Given the description of an element on the screen output the (x, y) to click on. 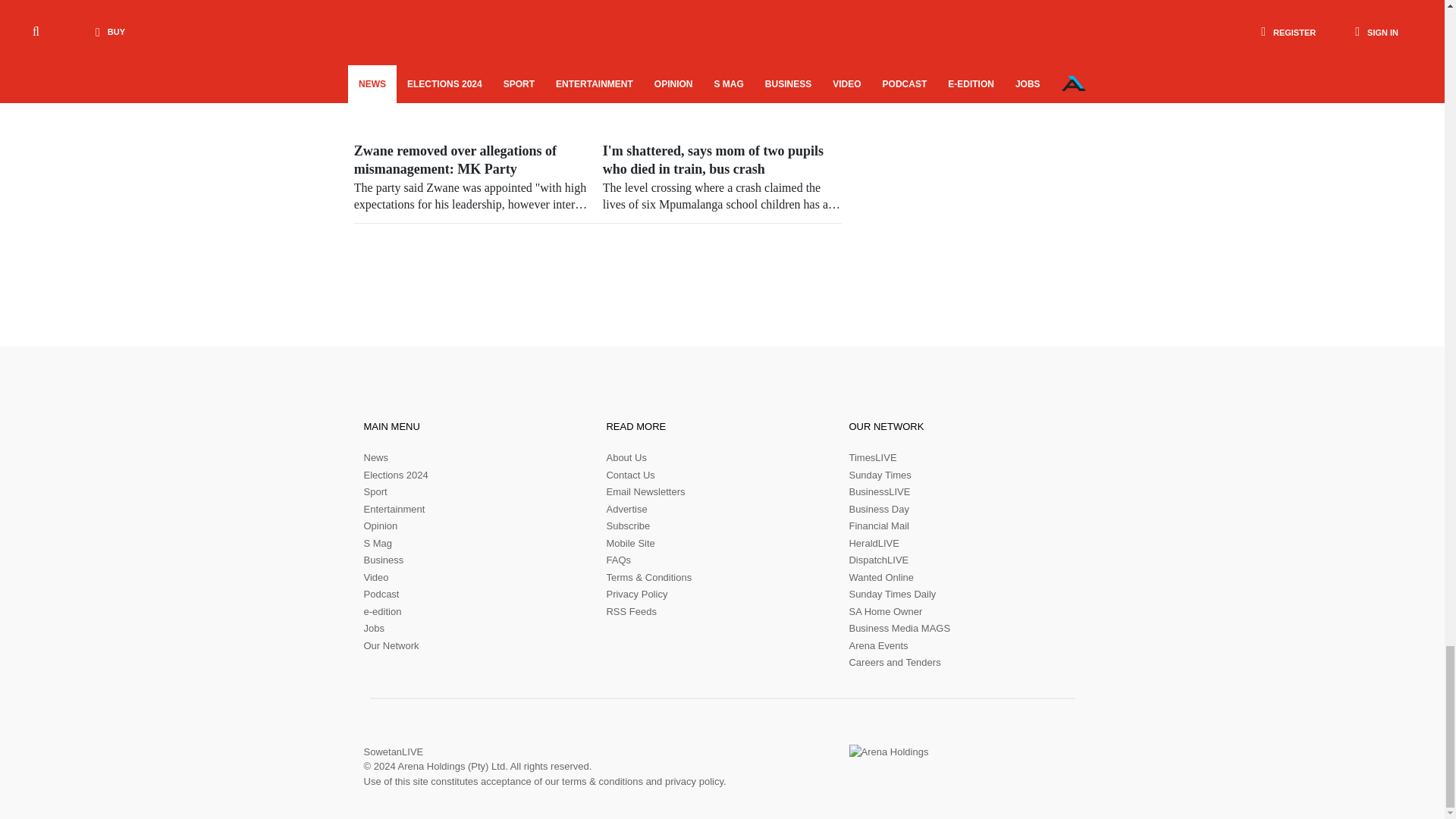
Zwane removed over allegations of mismanagement: MK Party (472, 176)
